Given the description of an element on the screen output the (x, y) to click on. 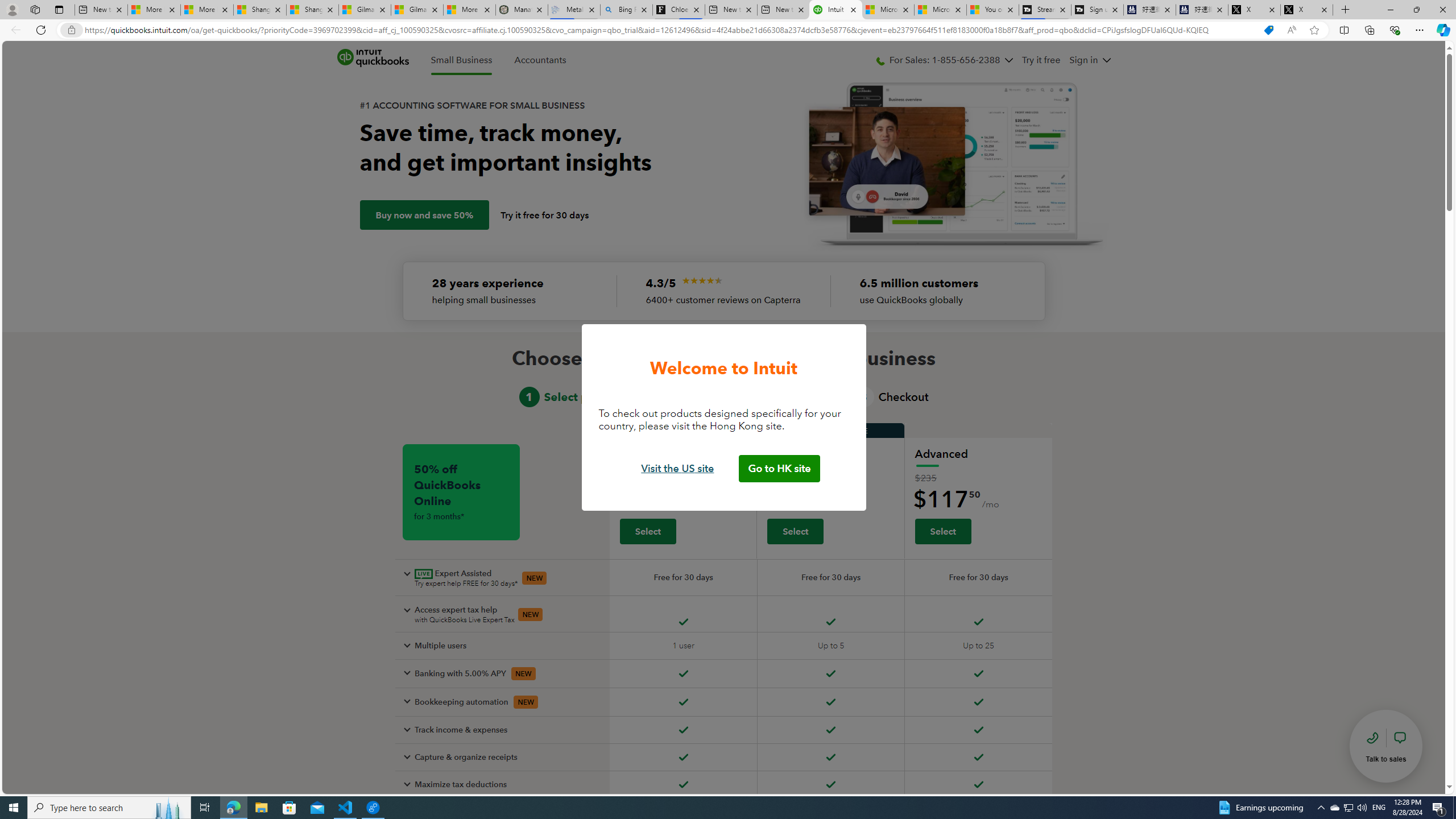
Microsoft Start Sports (887, 9)
Try it free (1041, 60)
Manatee Mortality Statistics | FWC (521, 9)
Intuit QuickBooks Online - Quickbooks (835, 9)
Select simple start (646, 531)
quickbooks (372, 57)
Image Alt Text (701, 280)
